Given the description of an element on the screen output the (x, y) to click on. 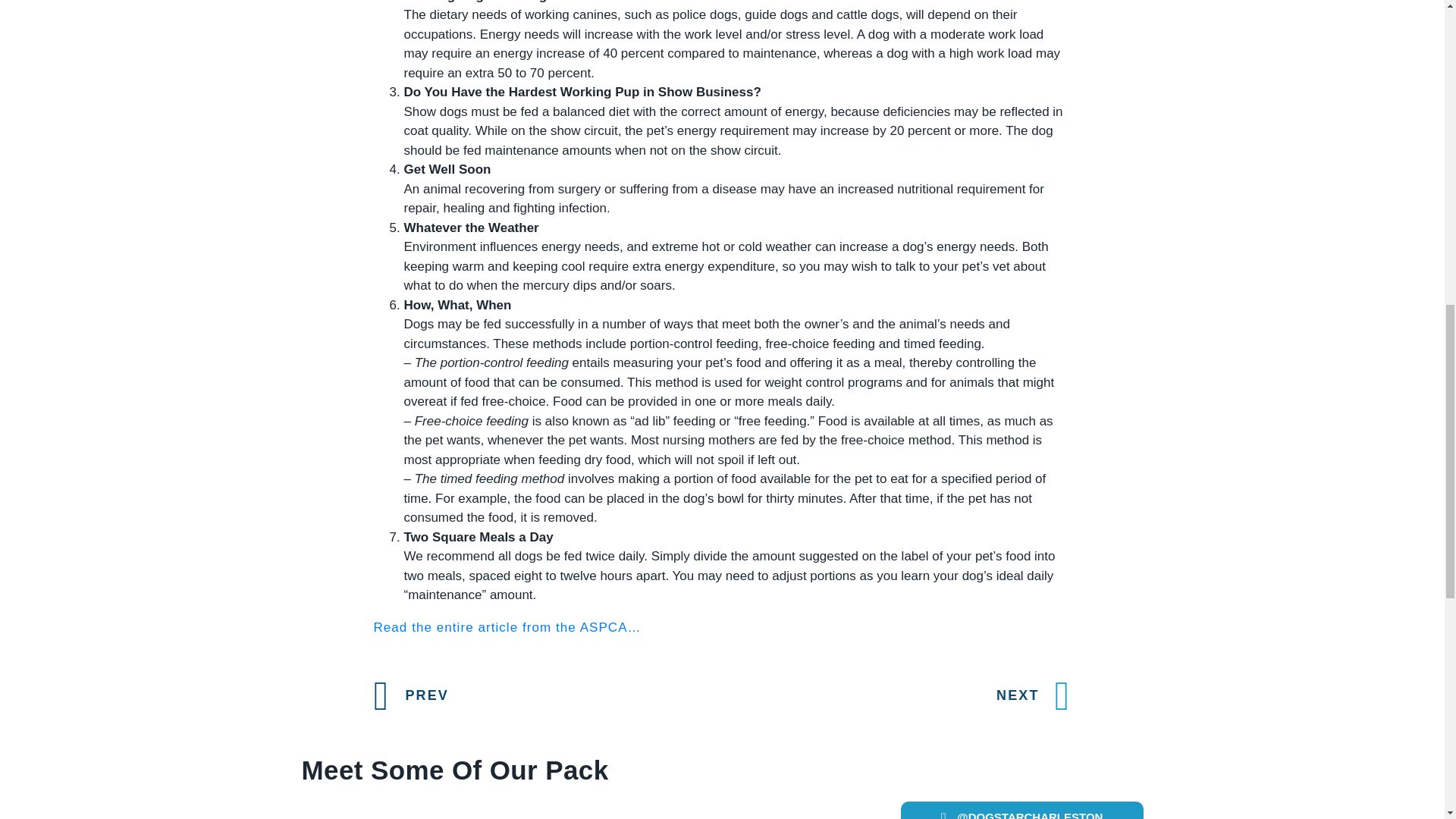
Feeding Adult Dogs (506, 626)
